Given the description of an element on the screen output the (x, y) to click on. 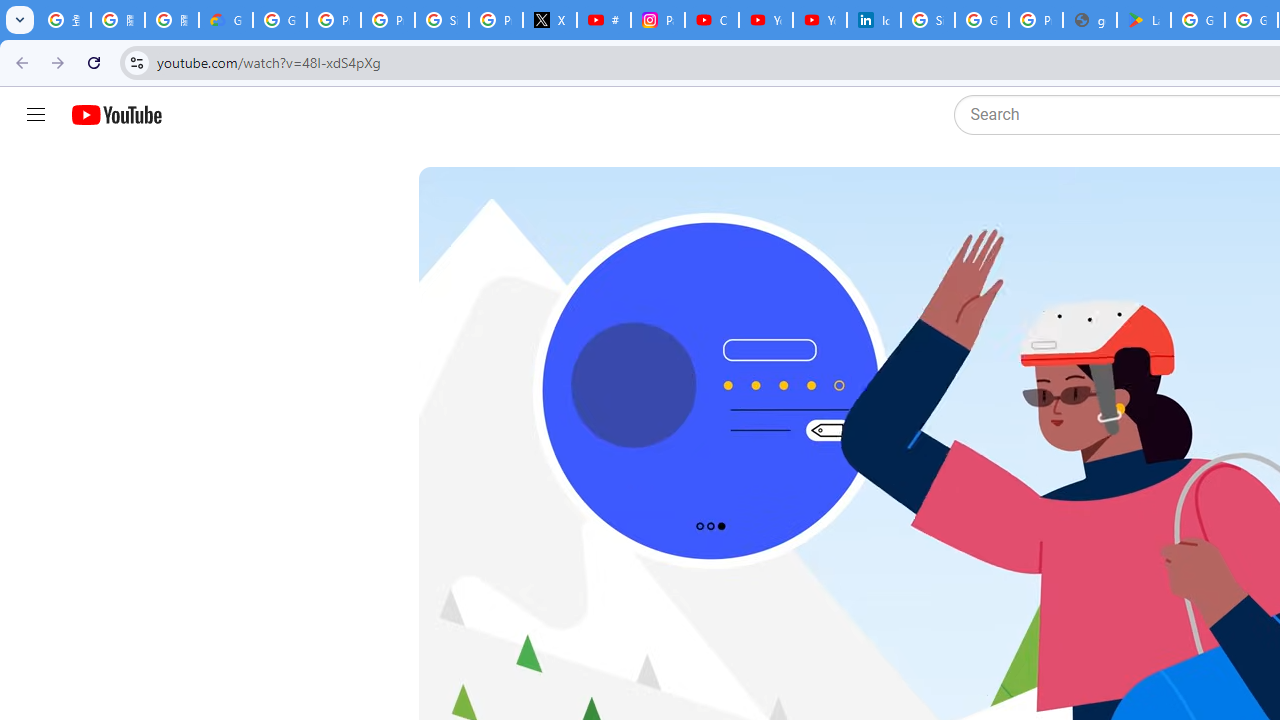
Last Shelter: Survival - Apps on Google Play (1144, 20)
Google Cloud Privacy Notice (225, 20)
YouTube Culture & Trends - YouTube Top 10, 2021 (819, 20)
X (550, 20)
